Given the description of an element on the screen output the (x, y) to click on. 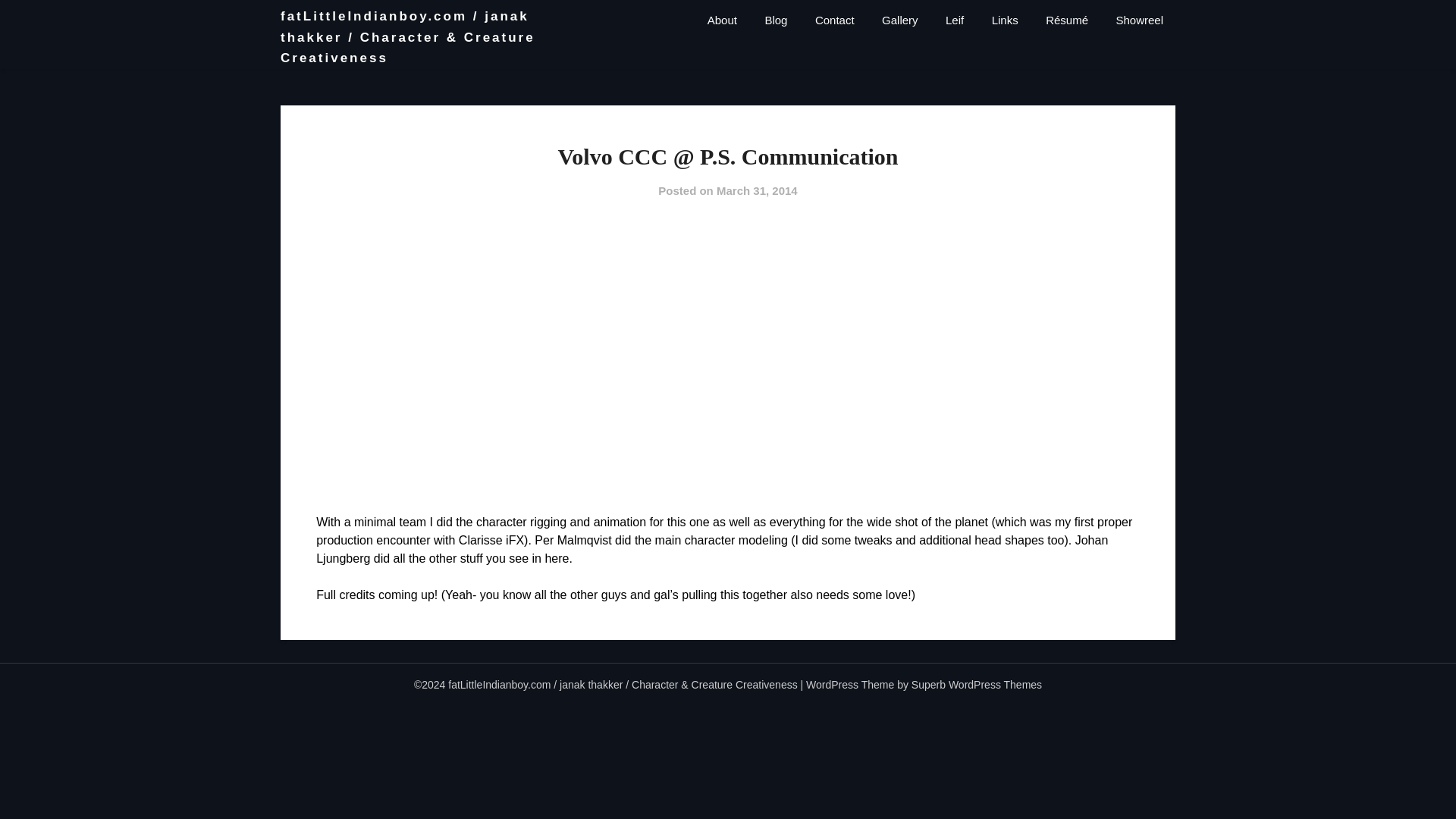
Contact (834, 20)
Showreel (1138, 20)
Superb WordPress Themes (976, 684)
Gallery (899, 20)
Leif (954, 20)
Blog (775, 20)
About (722, 20)
Links (1004, 20)
March 31, 2014 (756, 190)
